Given the description of an element on the screen output the (x, y) to click on. 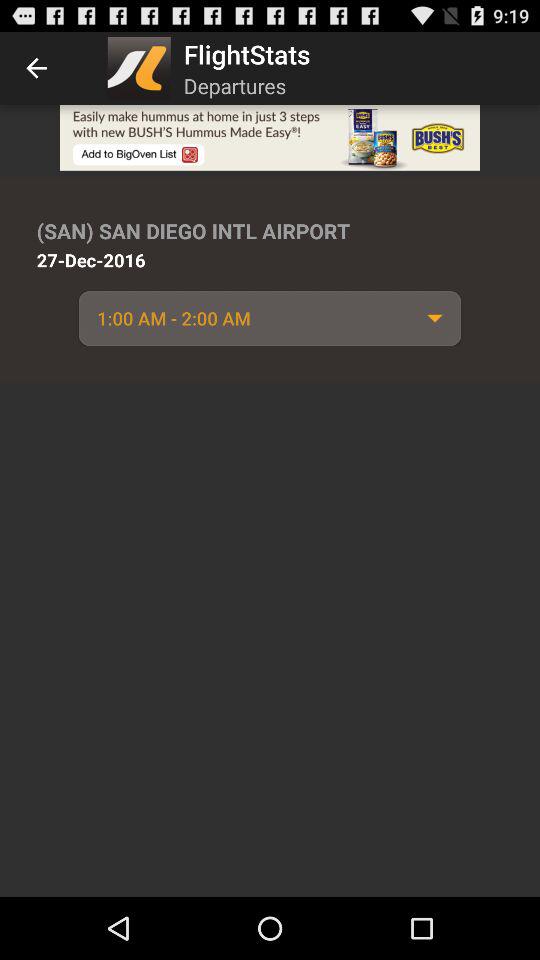
view advertisement (270, 137)
